Given the description of an element on the screen output the (x, y) to click on. 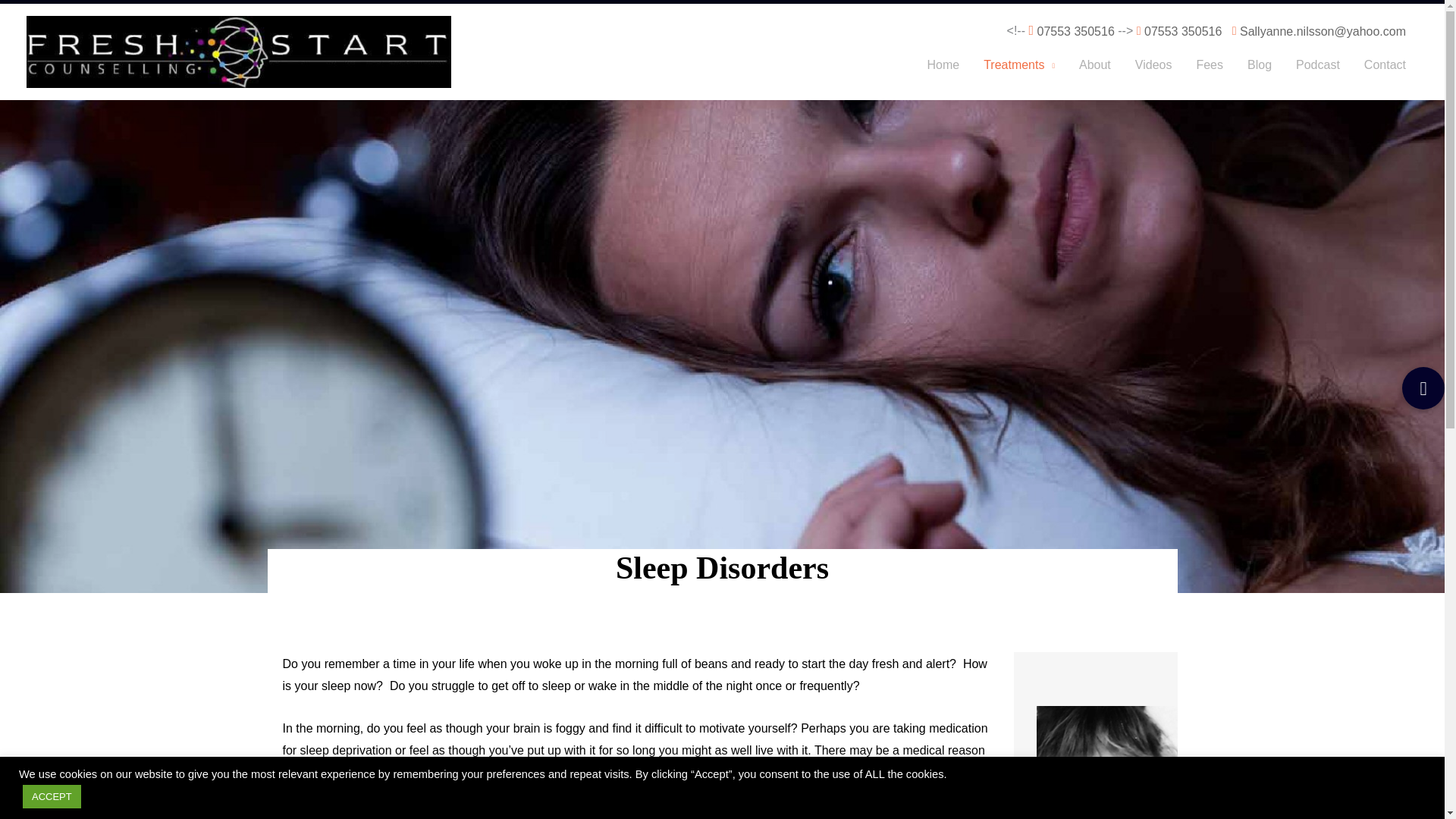
Treatments (1019, 64)
Home (942, 64)
Podcast (1318, 64)
07553 350516 (1074, 31)
Blog (1259, 64)
07553 350516 (1182, 31)
About (1094, 64)
Contact (1385, 64)
Fees (1208, 64)
Videos (1153, 64)
